Given the description of an element on the screen output the (x, y) to click on. 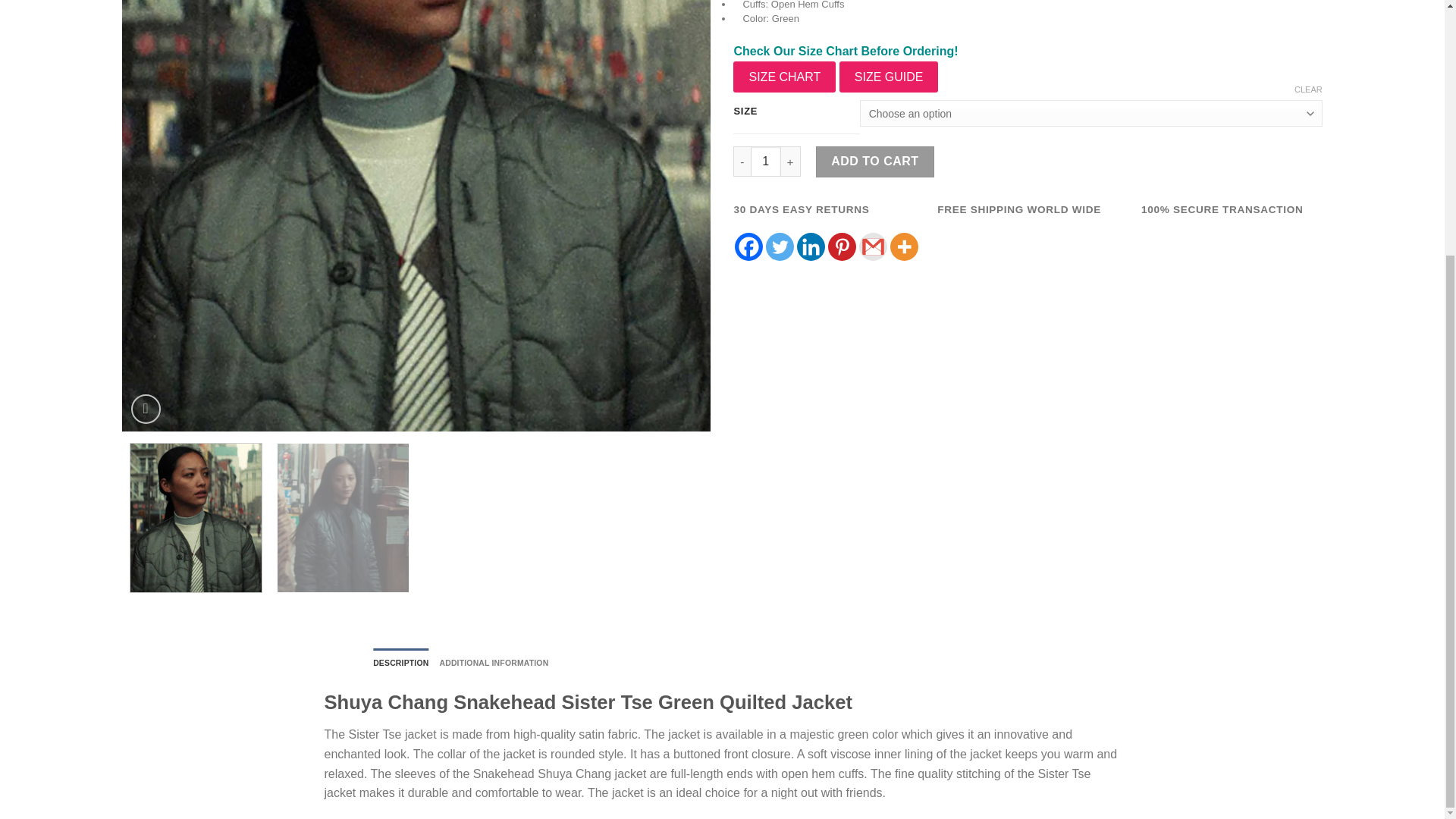
SIZE GUIDE (889, 77)
SIZE CHART (784, 77)
Qty (765, 161)
1 (765, 161)
Zoom (145, 408)
CLEAR (1308, 89)
ADD TO CART (874, 161)
